Given the description of an element on the screen output the (x, y) to click on. 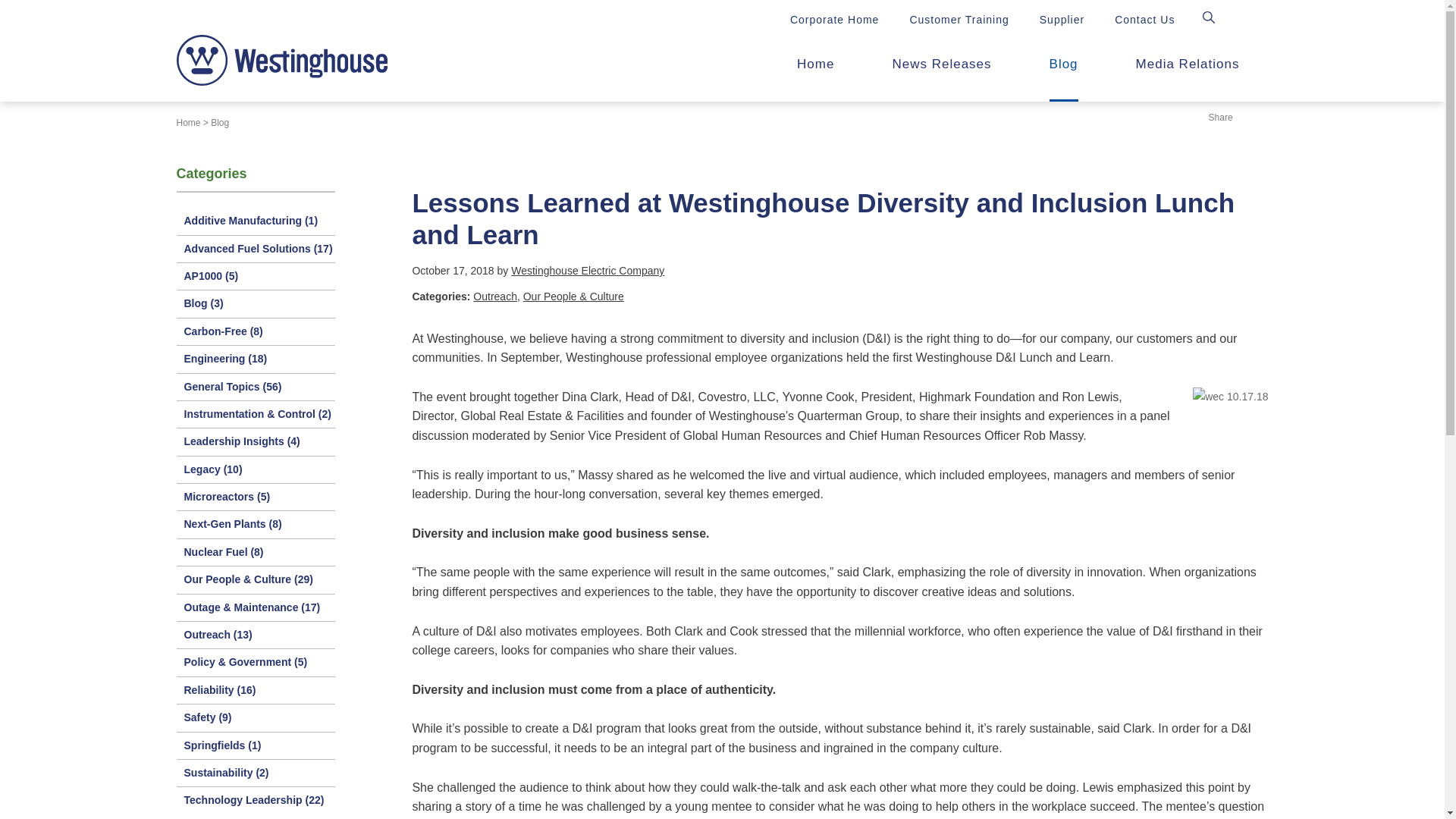
Westinghouse Electric Company (587, 270)
Media Relations (1187, 68)
Contact Us (1144, 19)
Home (188, 122)
Supplier (1061, 19)
Westinghouse (281, 60)
Customer Training (958, 19)
Corporate Home (834, 19)
Blog (219, 122)
News Releases (941, 68)
